Given the description of an element on the screen output the (x, y) to click on. 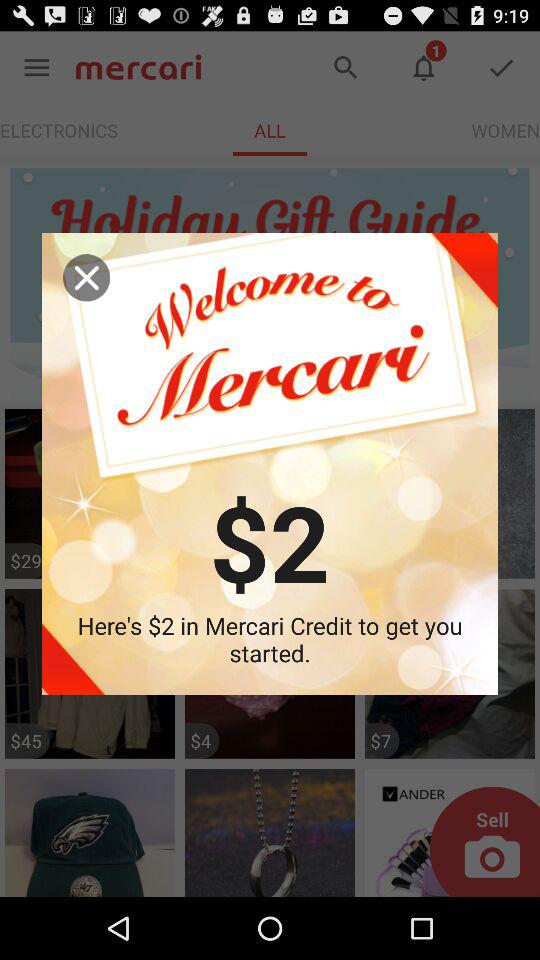
close (86, 277)
